Given the description of an element on the screen output the (x, y) to click on. 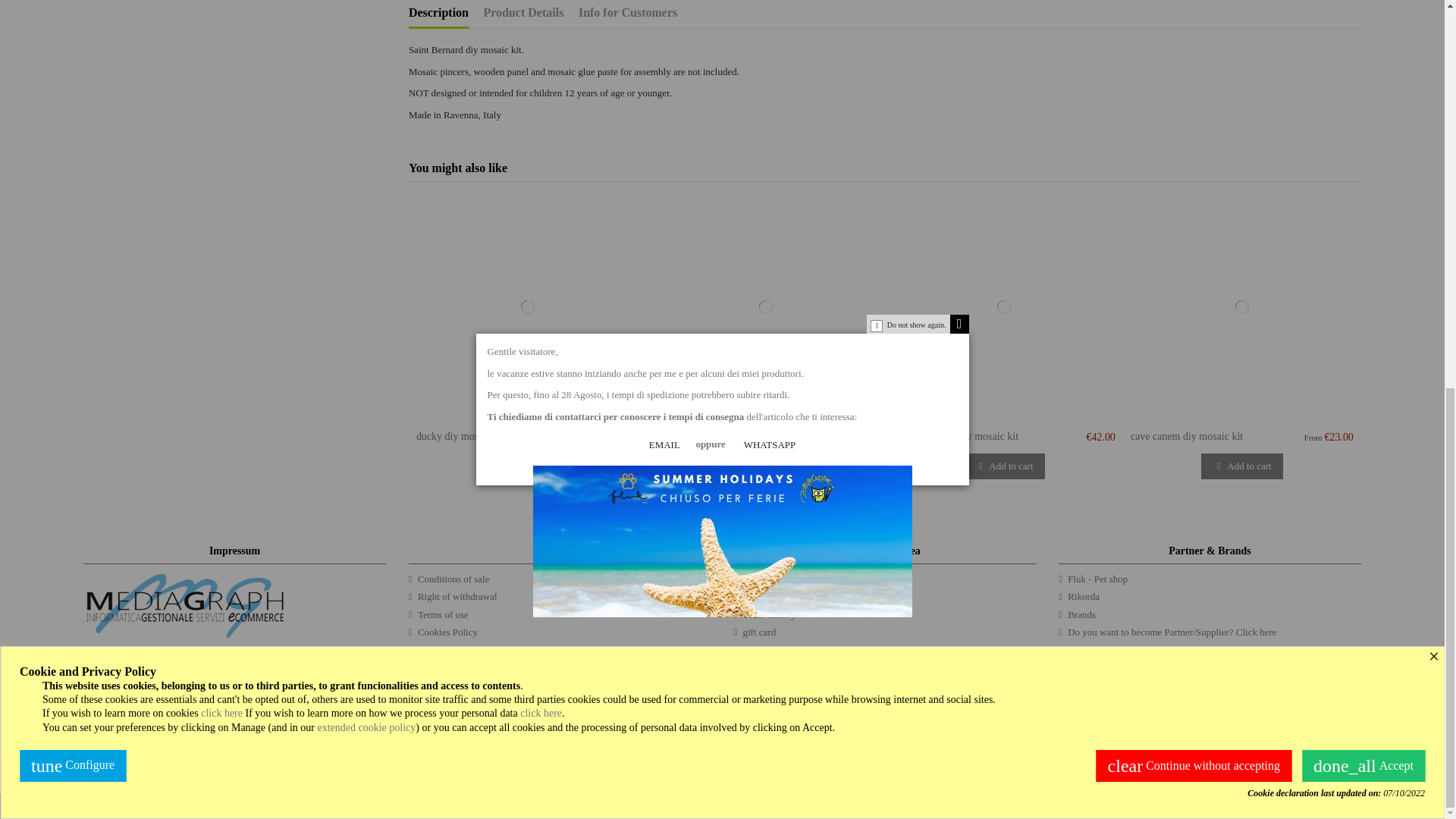
right of withdrawal (453, 596)
Conditions of sale (449, 579)
